Given the description of an element on the screen output the (x, y) to click on. 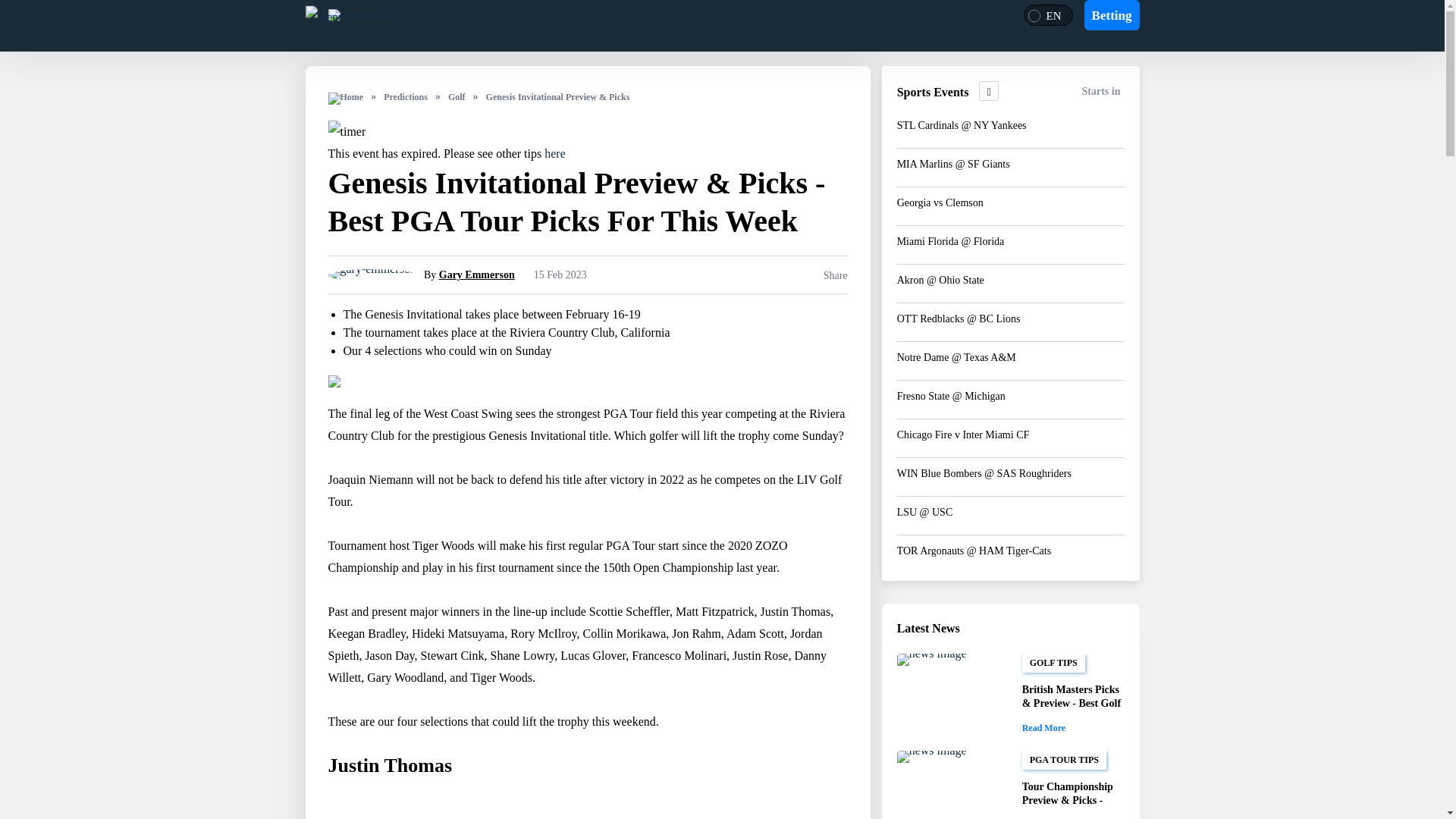
EN (1043, 16)
Menu (323, 15)
Betting (1112, 15)
